Given the description of an element on the screen output the (x, y) to click on. 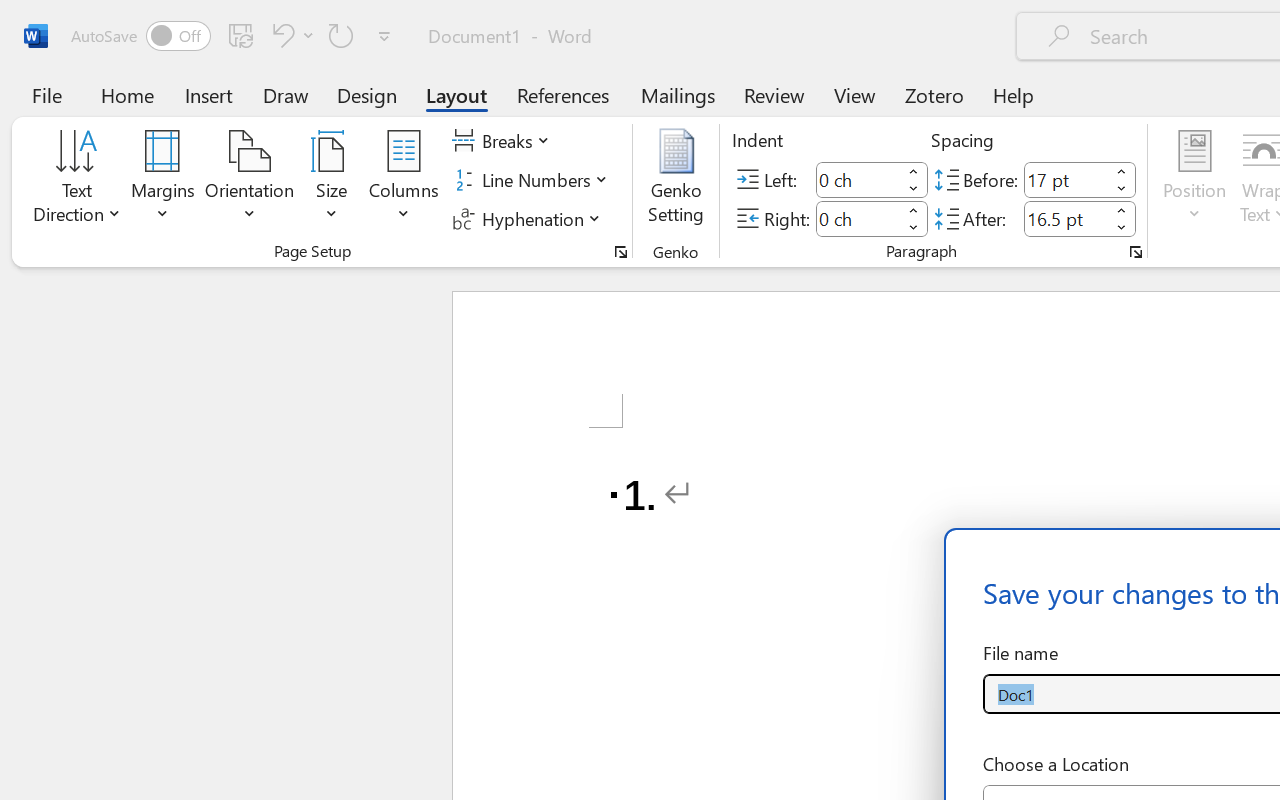
Genko Setting... (676, 179)
Spacing After (1066, 218)
Hyphenation (529, 218)
Less (1121, 227)
Indent Left (858, 179)
